Given the description of an element on the screen output the (x, y) to click on. 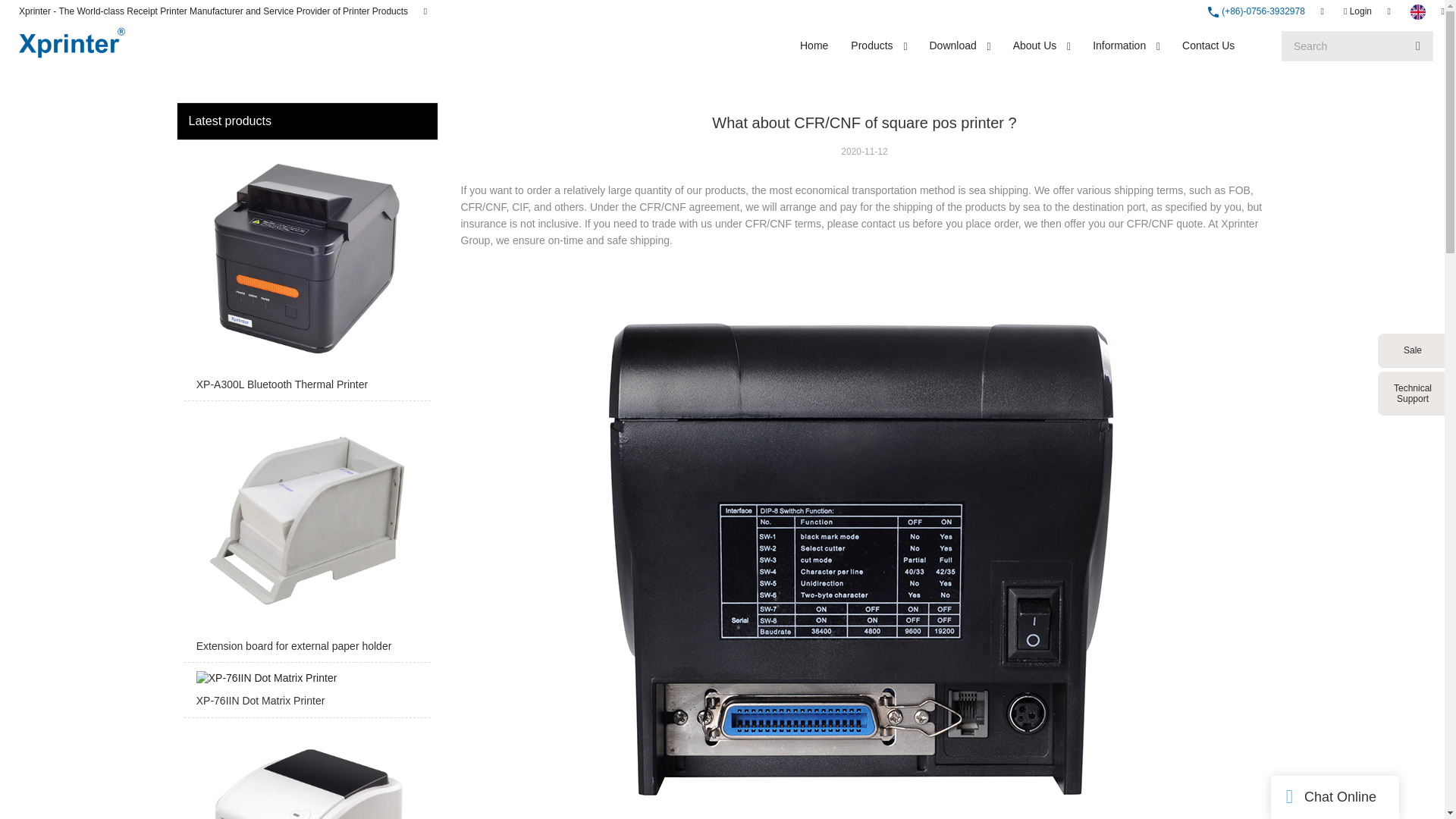
Products (872, 45)
Login (1357, 10)
Download (952, 45)
Home (814, 45)
